Given the description of an element on the screen output the (x, y) to click on. 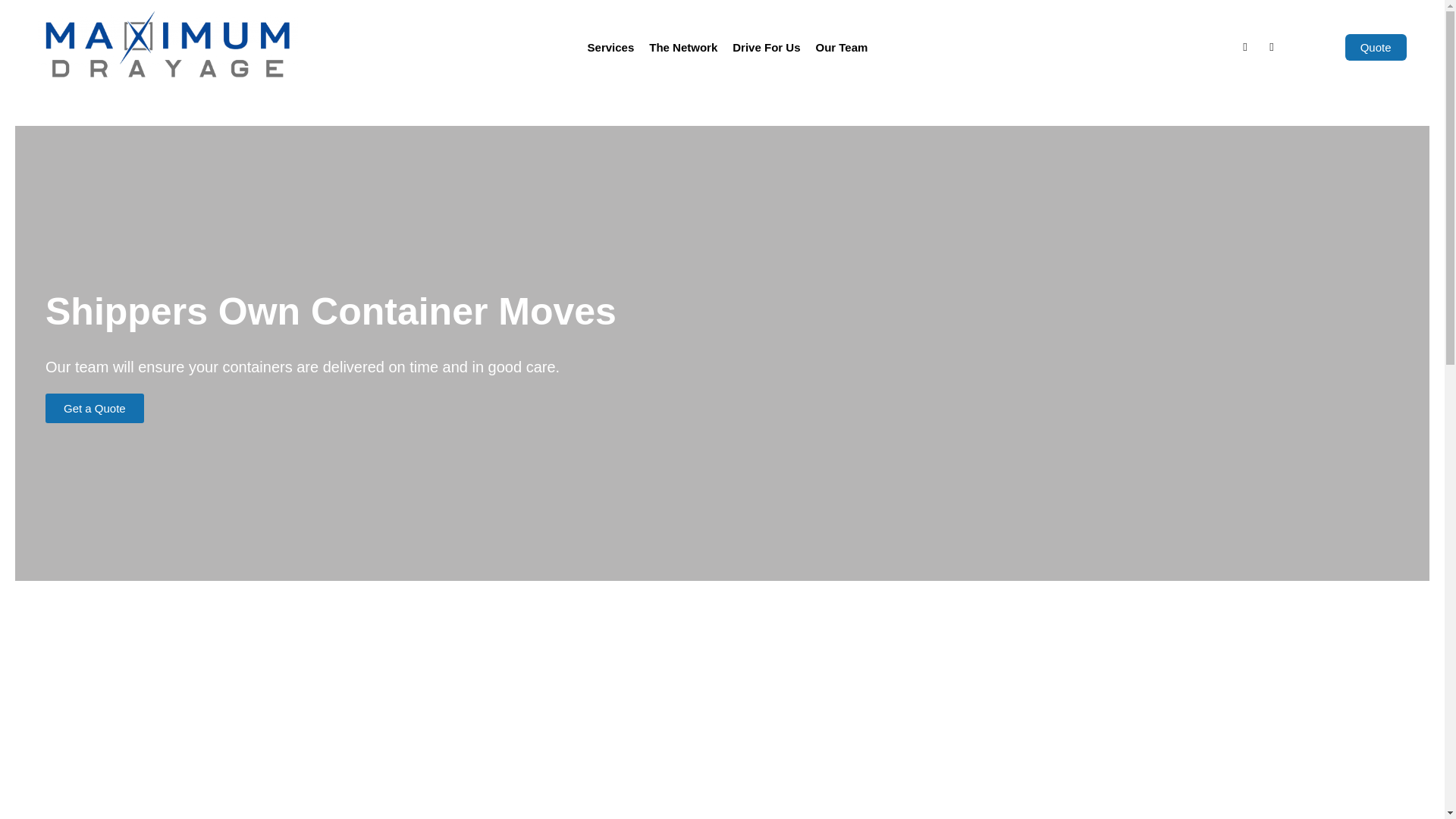
Quote (1375, 47)
The Network (683, 47)
Our Team (841, 47)
Services (610, 47)
Drive For Us (766, 47)
Get a Quote (94, 408)
